Given the description of an element on the screen output the (x, y) to click on. 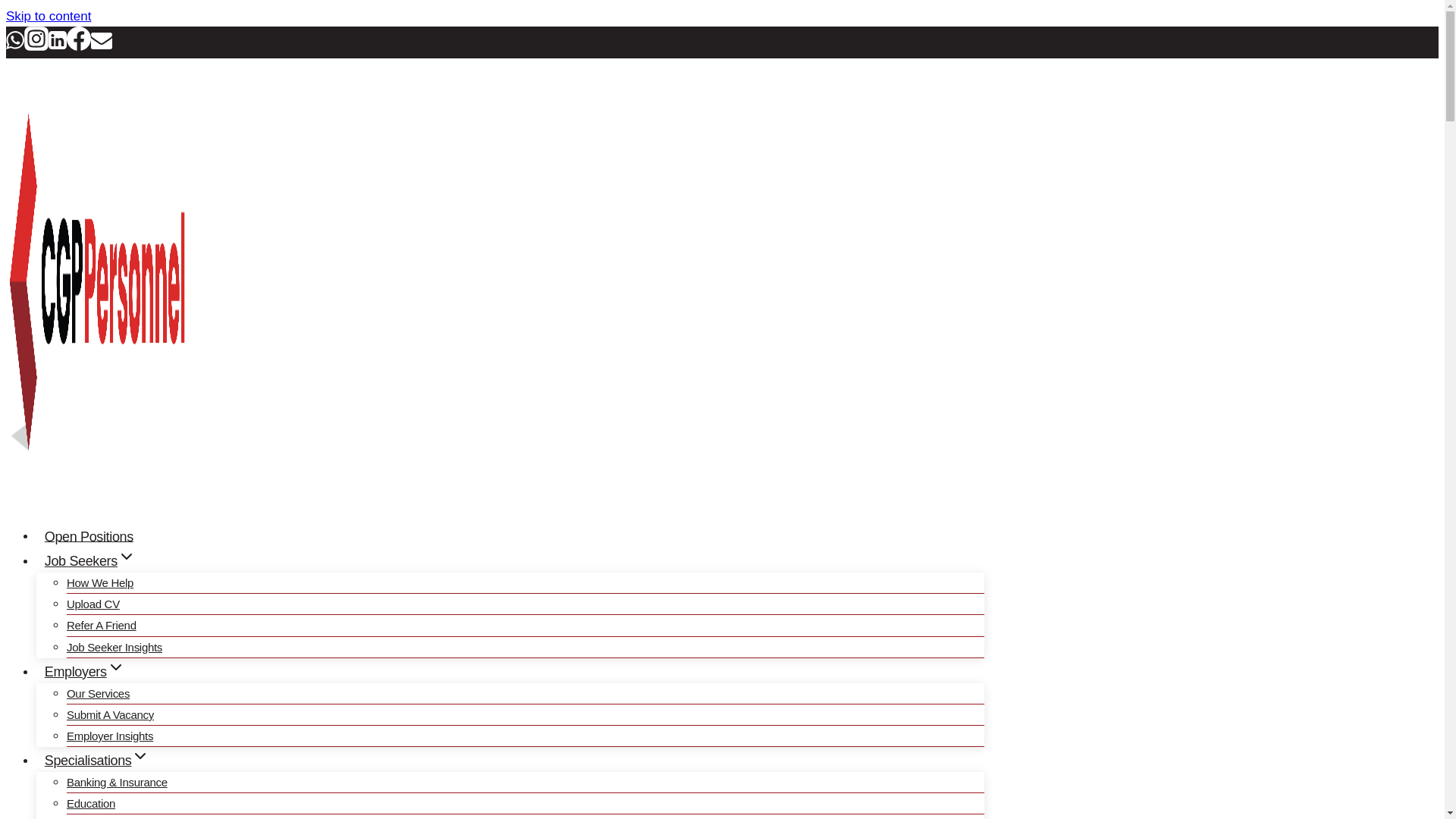
Expand (140, 755)
WhatsApp (14, 45)
Email (101, 45)
Our Services (97, 693)
Instagram (36, 45)
Expand (115, 667)
Job SeekersExpand (90, 561)
Facebook (78, 45)
Instagram (36, 38)
Employer Insights (109, 735)
